Given the description of an element on the screen output the (x, y) to click on. 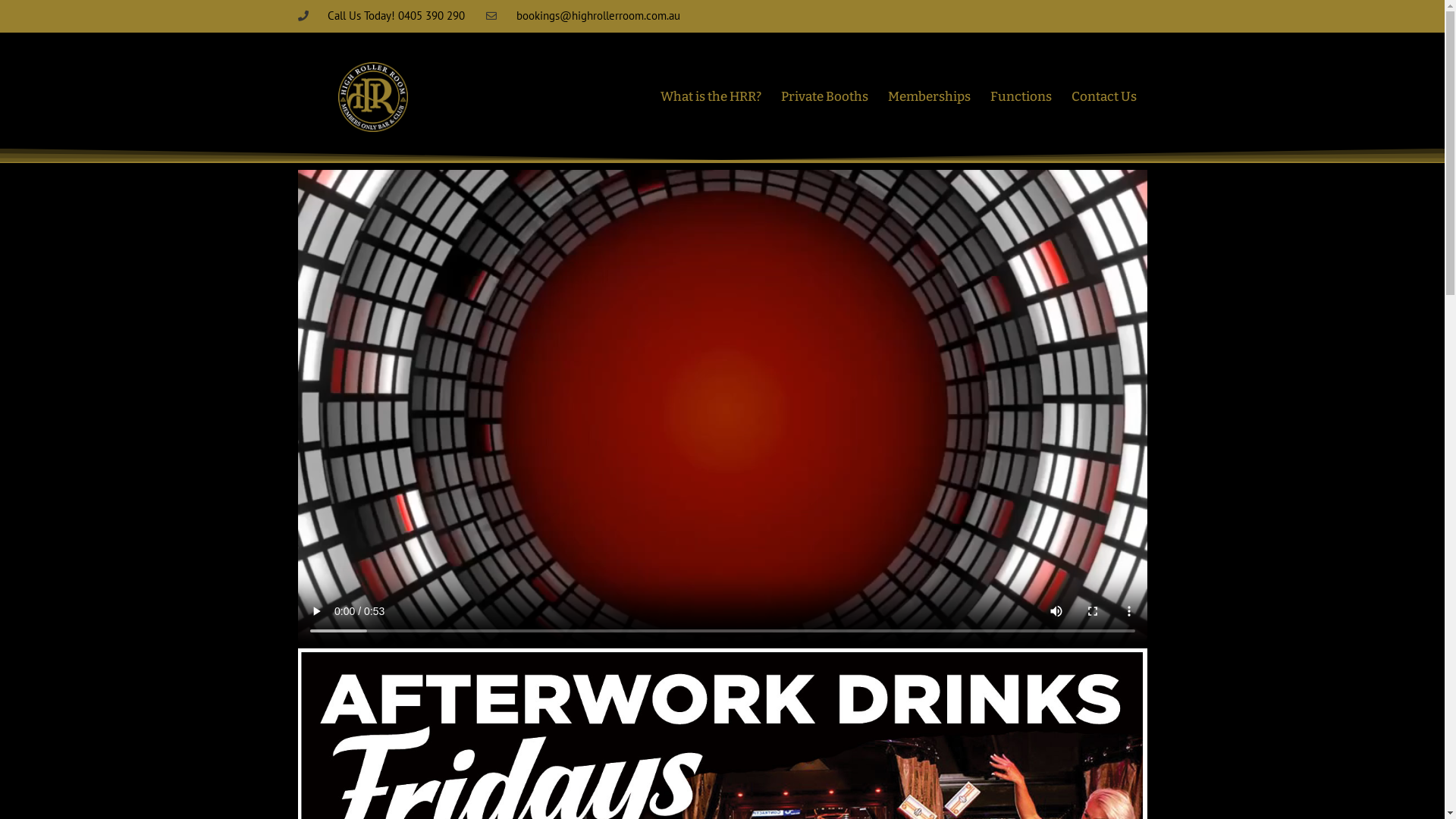
What is the HRR? Element type: text (710, 96)
Contact Us Element type: text (1103, 96)
Memberships Element type: text (929, 96)
Functions Element type: text (1020, 96)
Private Booths Element type: text (824, 96)
